Given the description of an element on the screen output the (x, y) to click on. 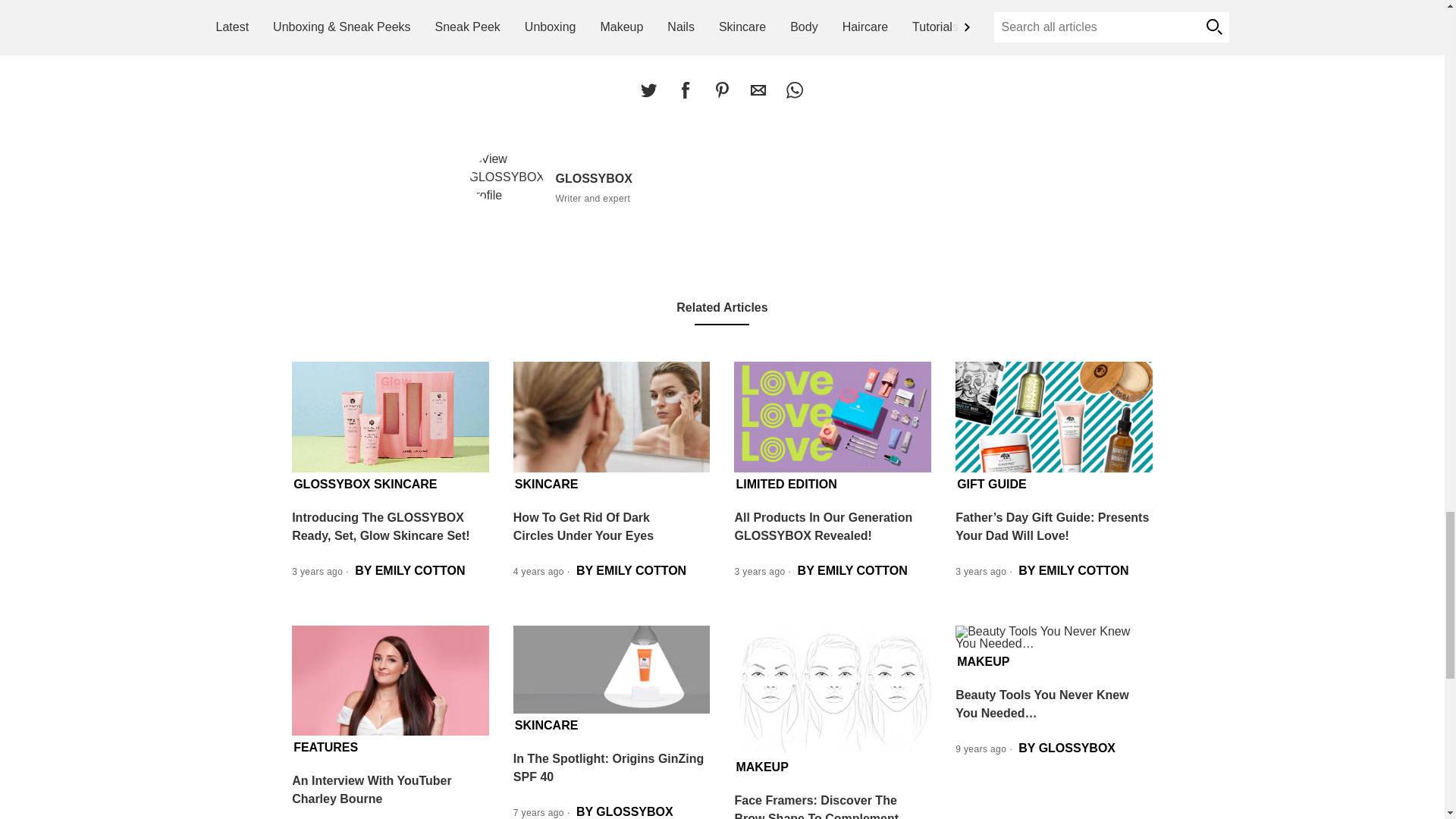
GLOSSYBOX (510, 176)
Share this on WhatsApp (793, 90)
Share this on Pinterest (721, 90)
Share this by Email (757, 90)
Share this on Facebook (684, 90)
Share this on Twitter (648, 90)
